Given the description of an element on the screen output the (x, y) to click on. 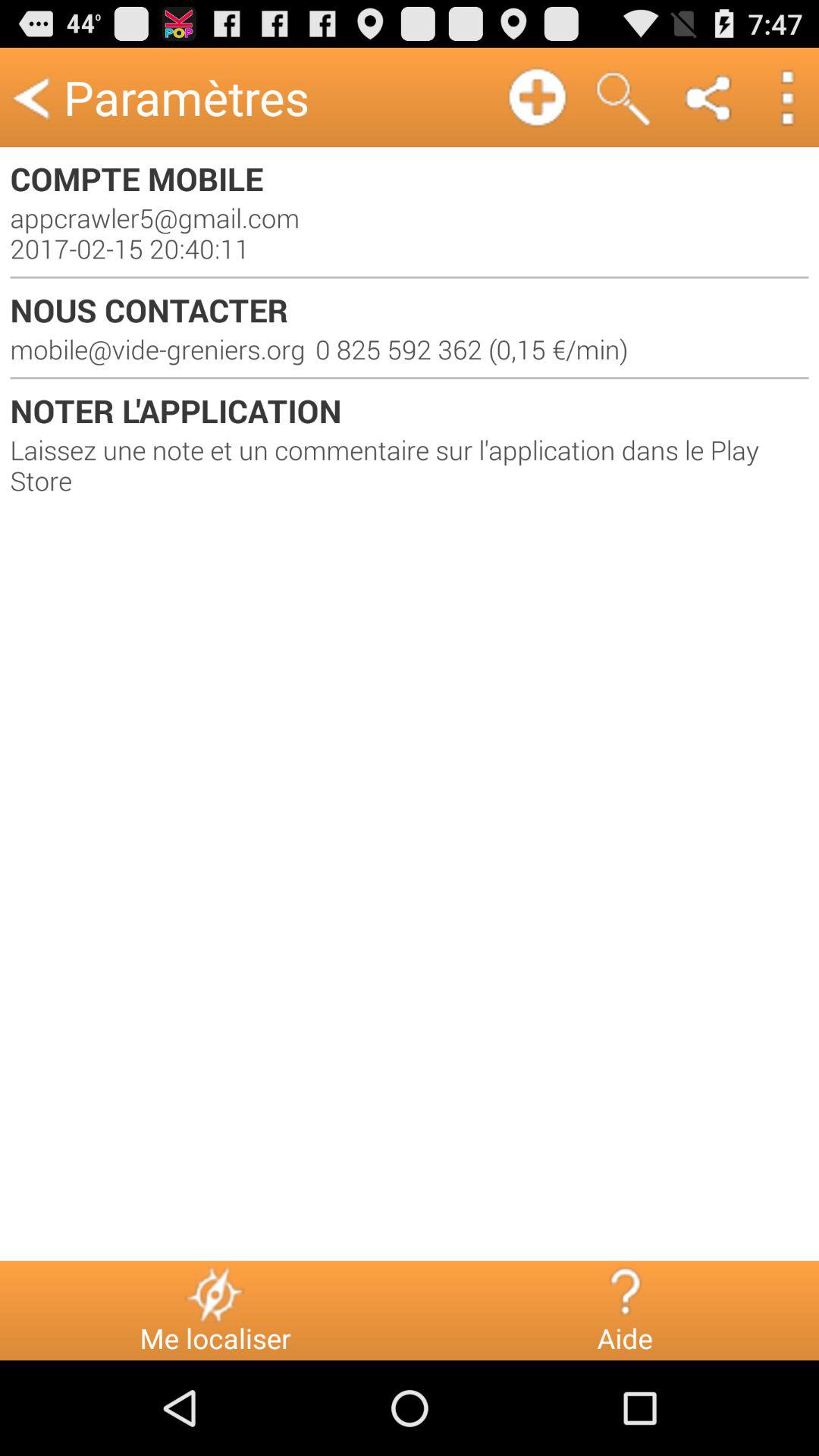
jump until the appcrawler5 gmail com item (409, 233)
